Given the description of an element on the screen output the (x, y) to click on. 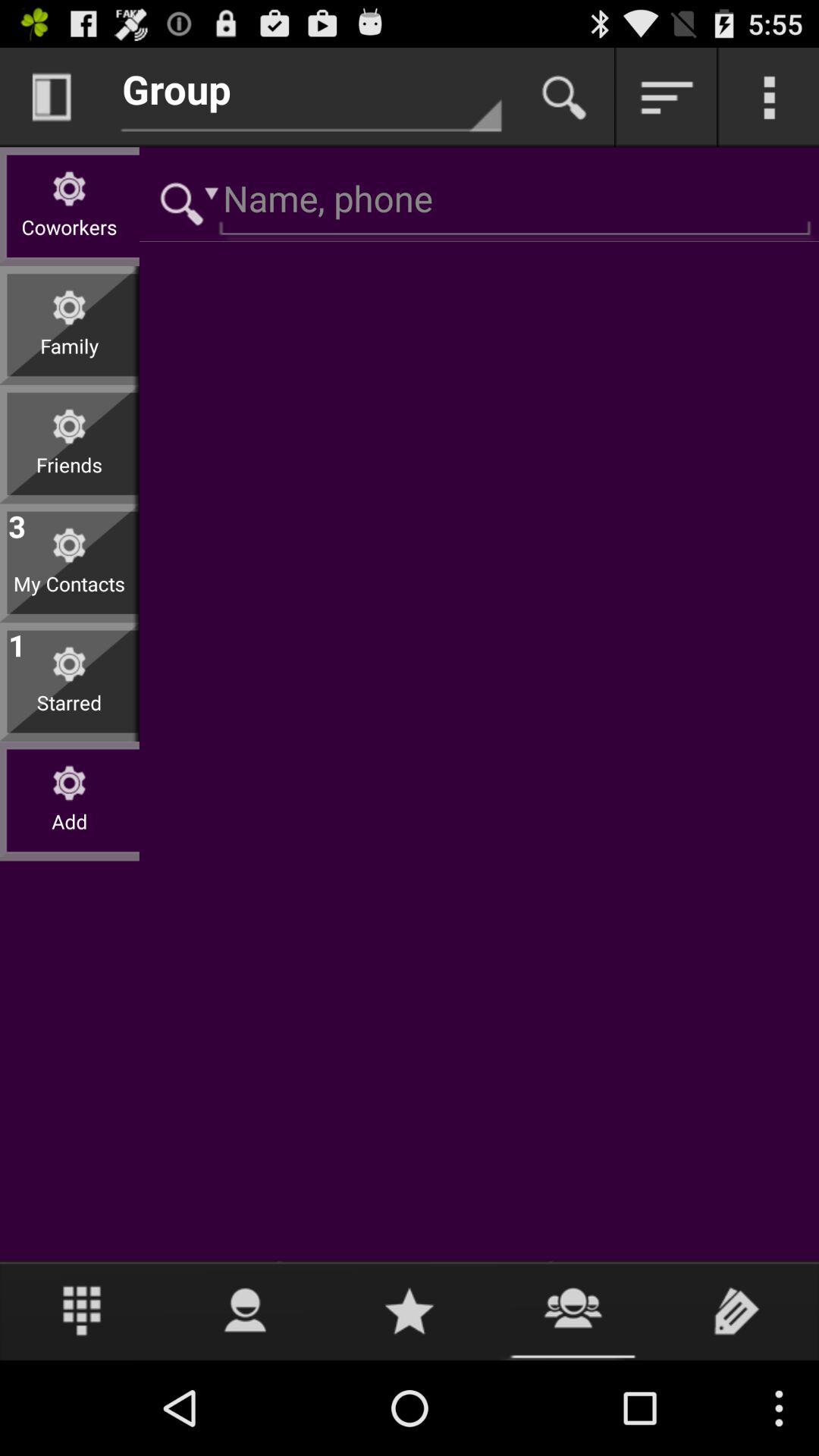
ten-key button (81, 1310)
